Given the description of an element on the screen output the (x, y) to click on. 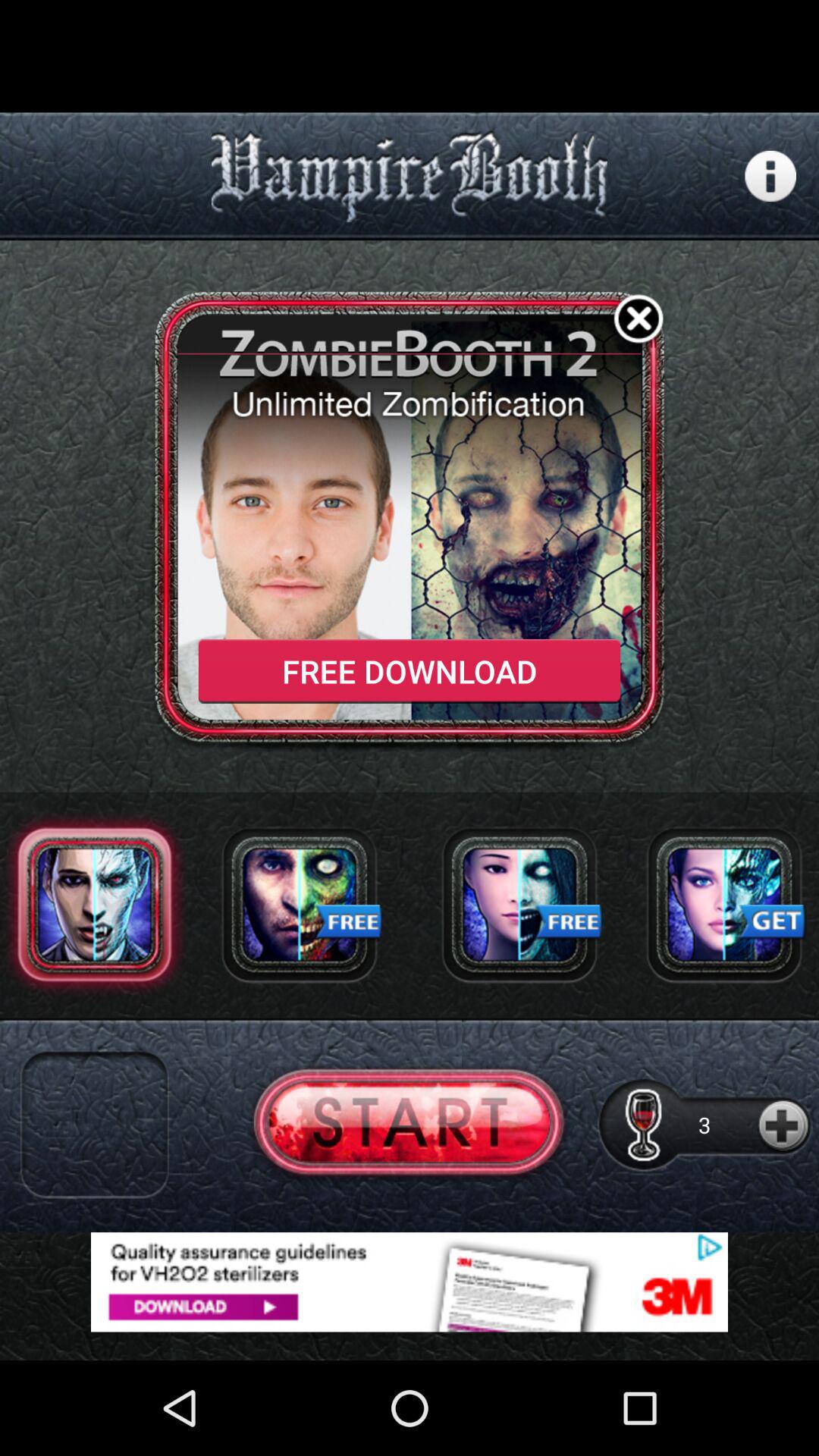
add more object (784, 1124)
